Given the description of an element on the screen output the (x, y) to click on. 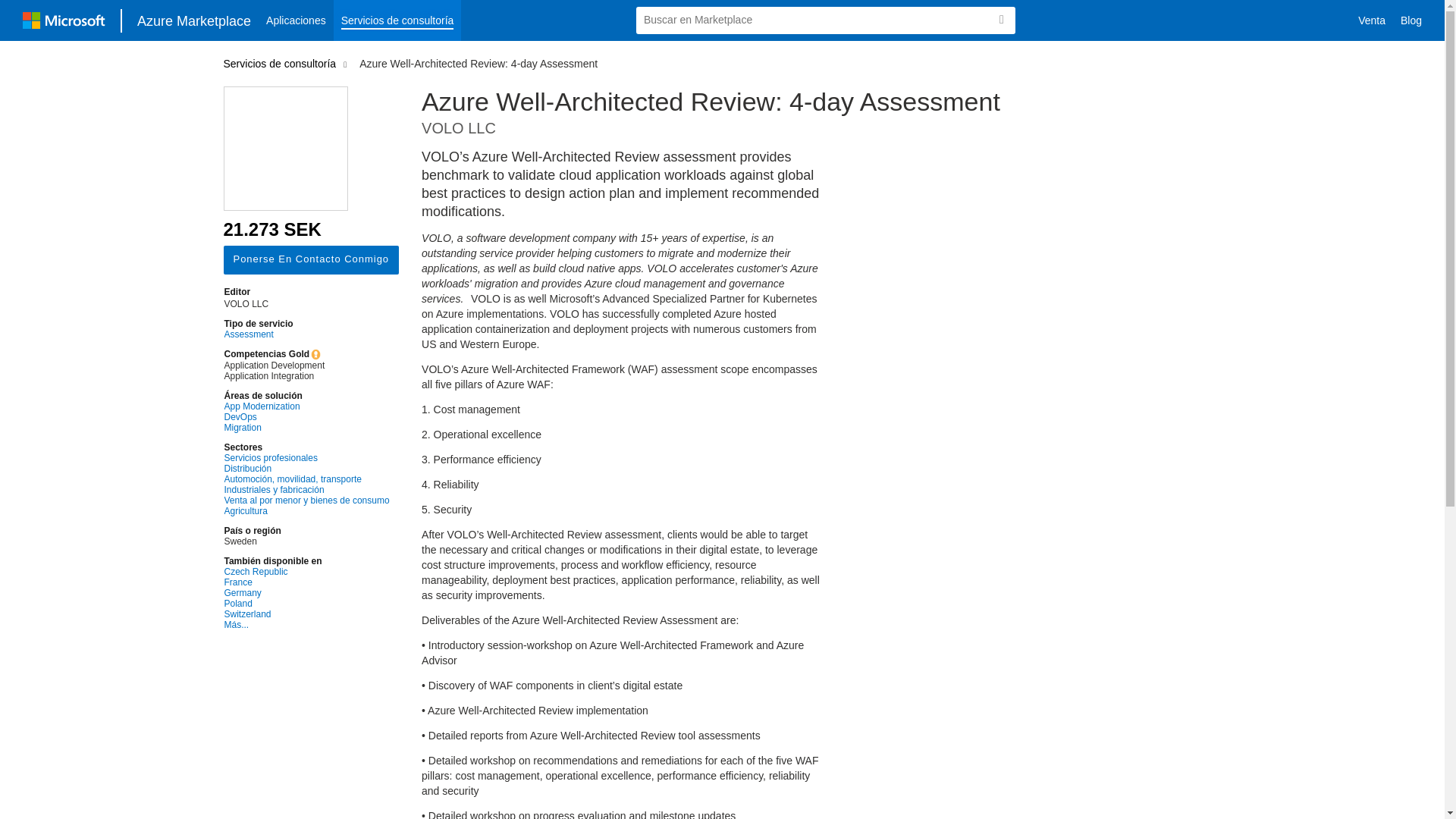
France (307, 582)
Assessment (307, 334)
Venta (1372, 20)
Poland (307, 603)
App Modernization (307, 406)
Aplicaciones (296, 20)
Blog (1411, 20)
Migration (307, 427)
DevOps (307, 416)
Czech Republic (307, 571)
Venta al por menor y bienes de consumo (307, 500)
Ponerse En Contacto Conmigo (310, 259)
Agricultura (307, 511)
Search (1001, 19)
Switzerland (307, 614)
